Given the description of an element on the screen output the (x, y) to click on. 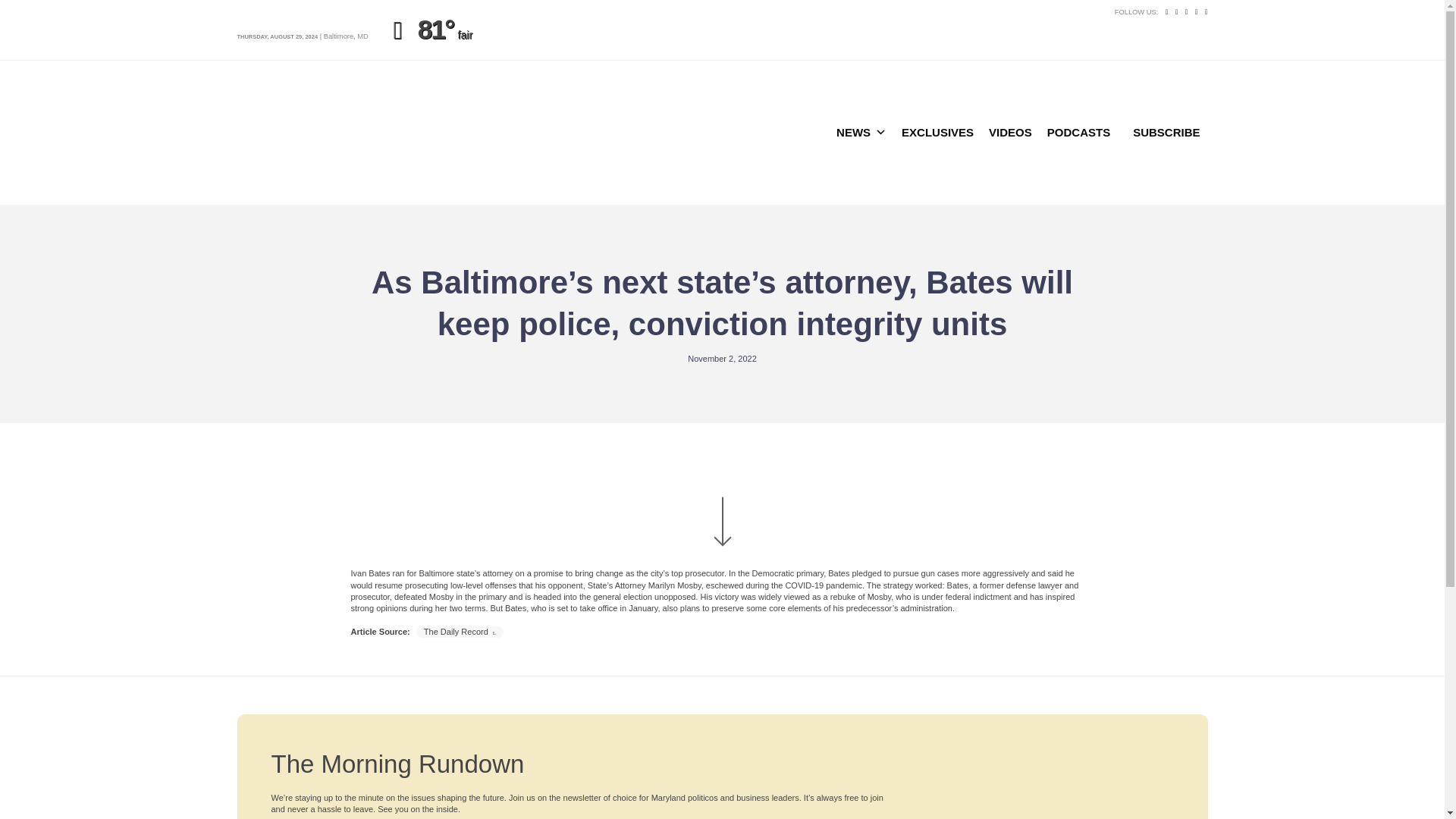
NEWS (860, 132)
EXCLUSIVES (937, 132)
VIDEOS (1010, 132)
SUBSCRIBE (1166, 132)
PODCASTS (1078, 132)
The Daily Record (459, 632)
